Given the description of an element on the screen output the (x, y) to click on. 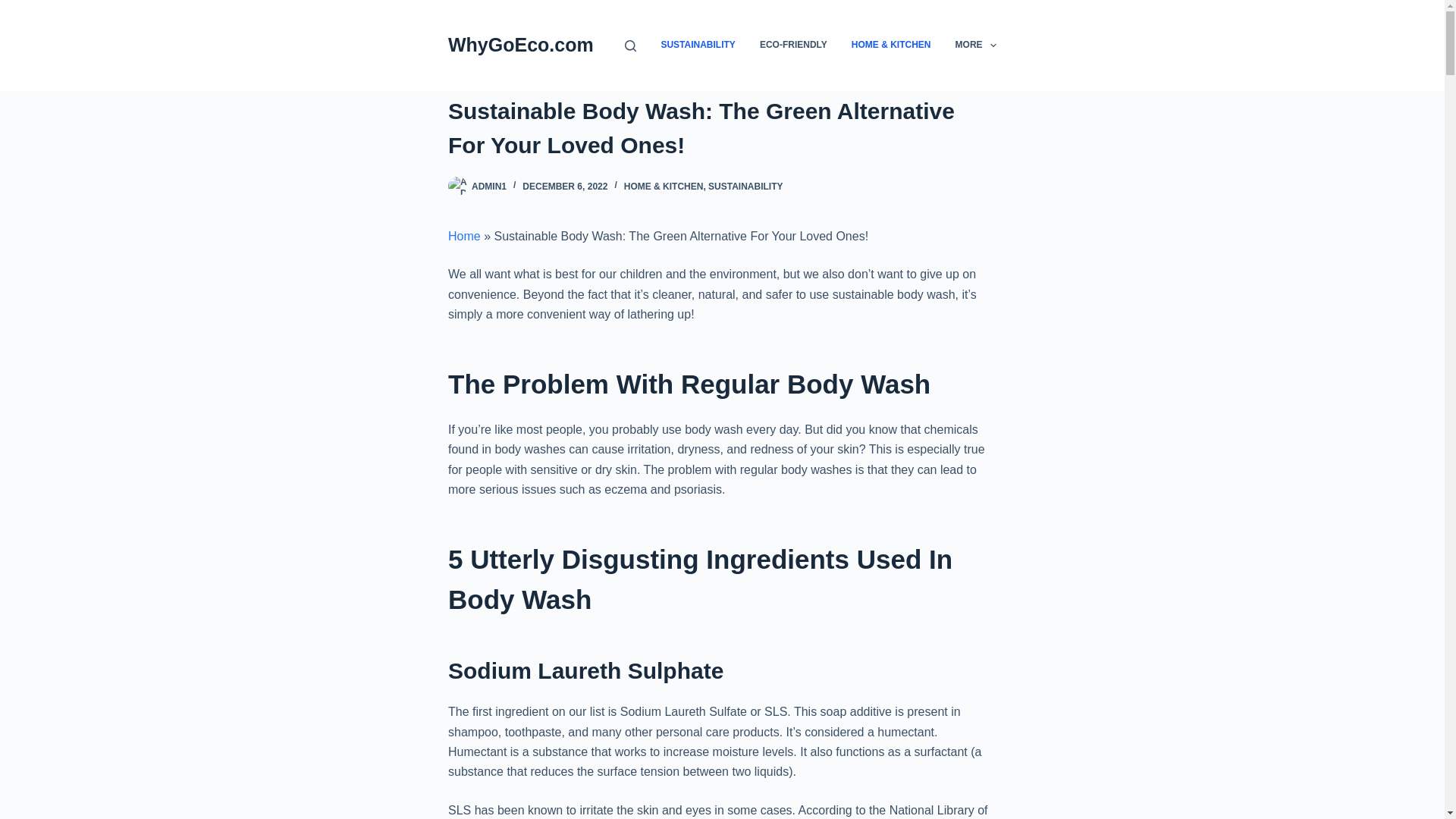
ADMIN1 (488, 185)
Skip to content (15, 7)
ECO-FRIENDLY (792, 45)
Posts by admin1 (488, 185)
SUSTAINABILITY (745, 185)
Home (464, 236)
SUSTAINABILITY (697, 45)
WhyGoEco.com (521, 44)
